Given the description of an element on the screen output the (x, y) to click on. 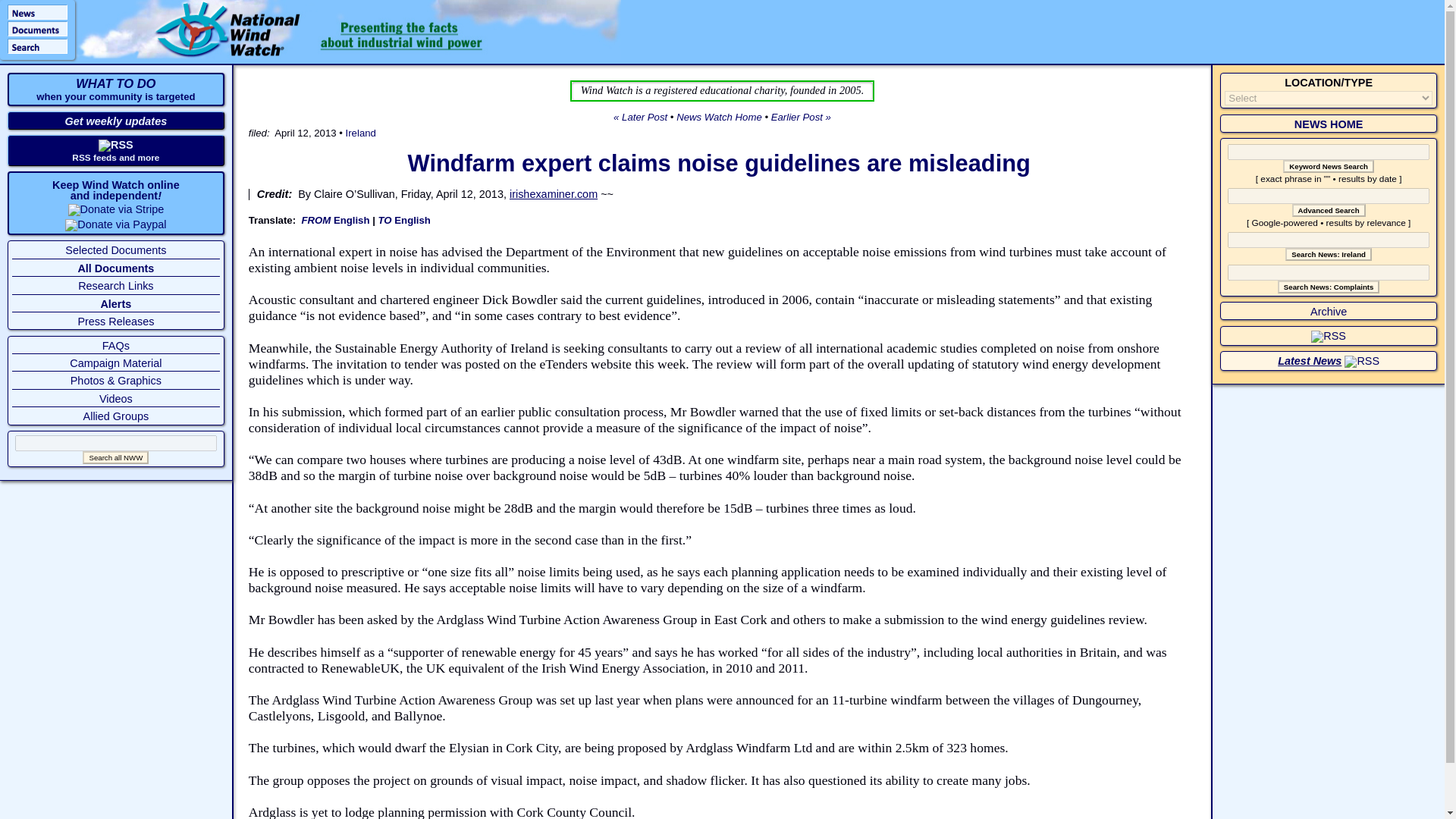
Search all NWW (115, 457)
Wind Watch News Feeds (1328, 336)
Search News: Complaints (1329, 286)
Search News: Ireland (1328, 254)
Advanced Search (1328, 210)
Keyword News Search (1328, 165)
Search News: Ireland (1328, 254)
Latest News (1309, 360)
Research Links (115, 285)
